Given the description of an element on the screen output the (x, y) to click on. 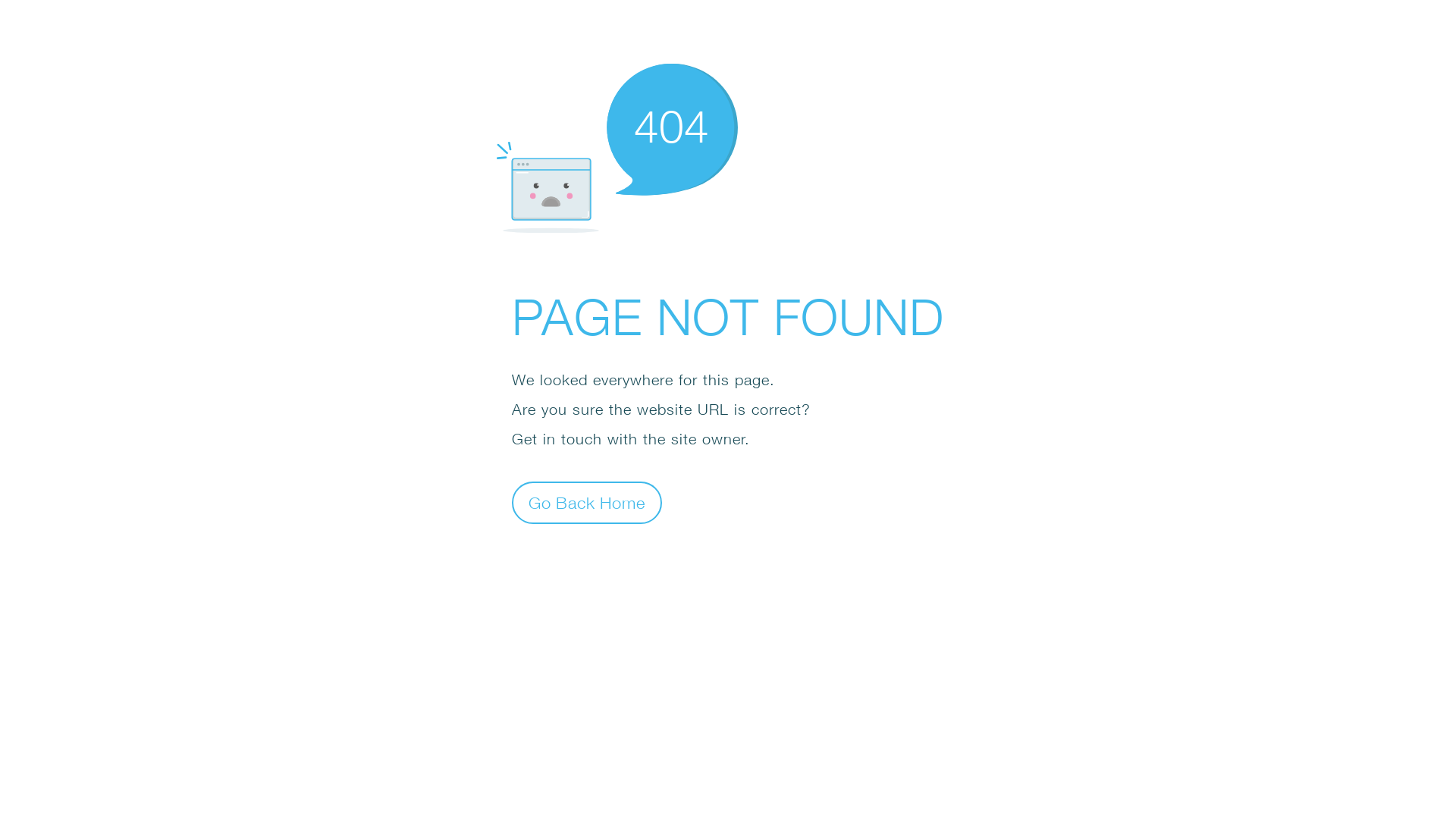
Go Back Home Element type: text (586, 502)
